Given the description of an element on the screen output the (x, y) to click on. 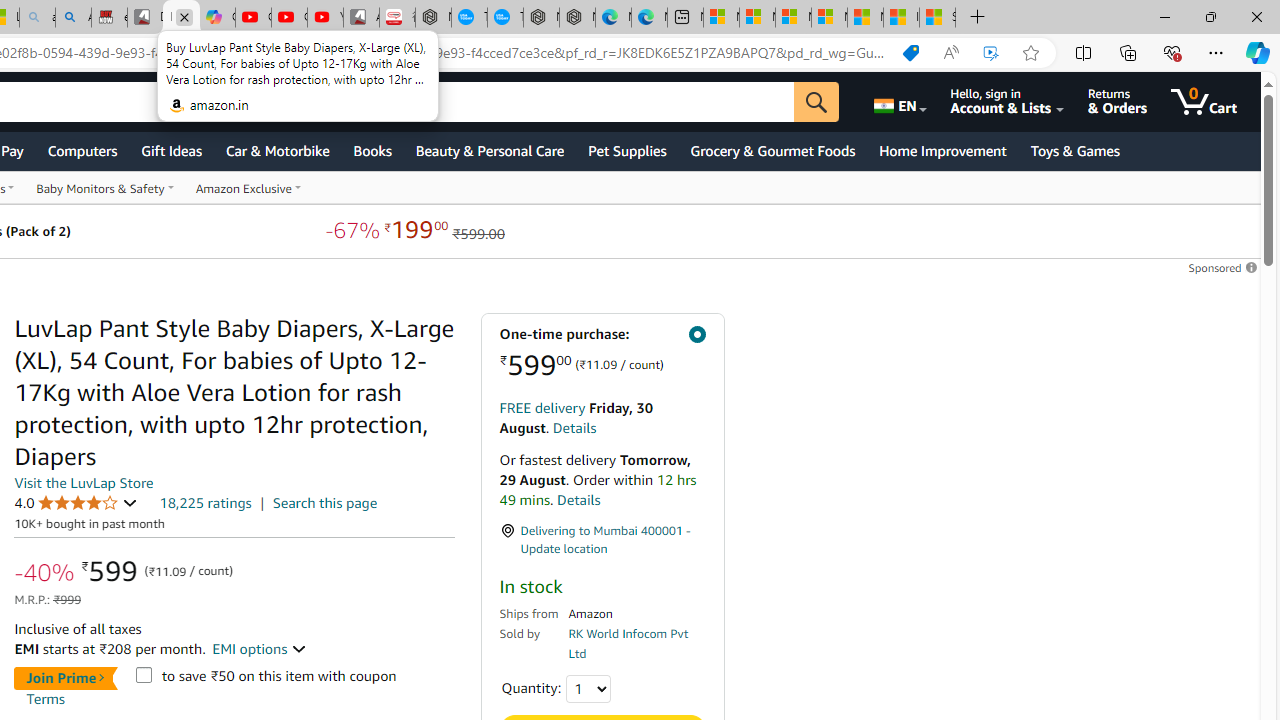
The most popular Google 'how to' searches (505, 17)
Copilot (217, 17)
I Gained 20 Pounds of Muscle in 30 Days! | Watch (901, 17)
Enhance video (991, 53)
Nordace - Nordace has arrived Hong Kong (577, 17)
